Given the description of an element on the screen output the (x, y) to click on. 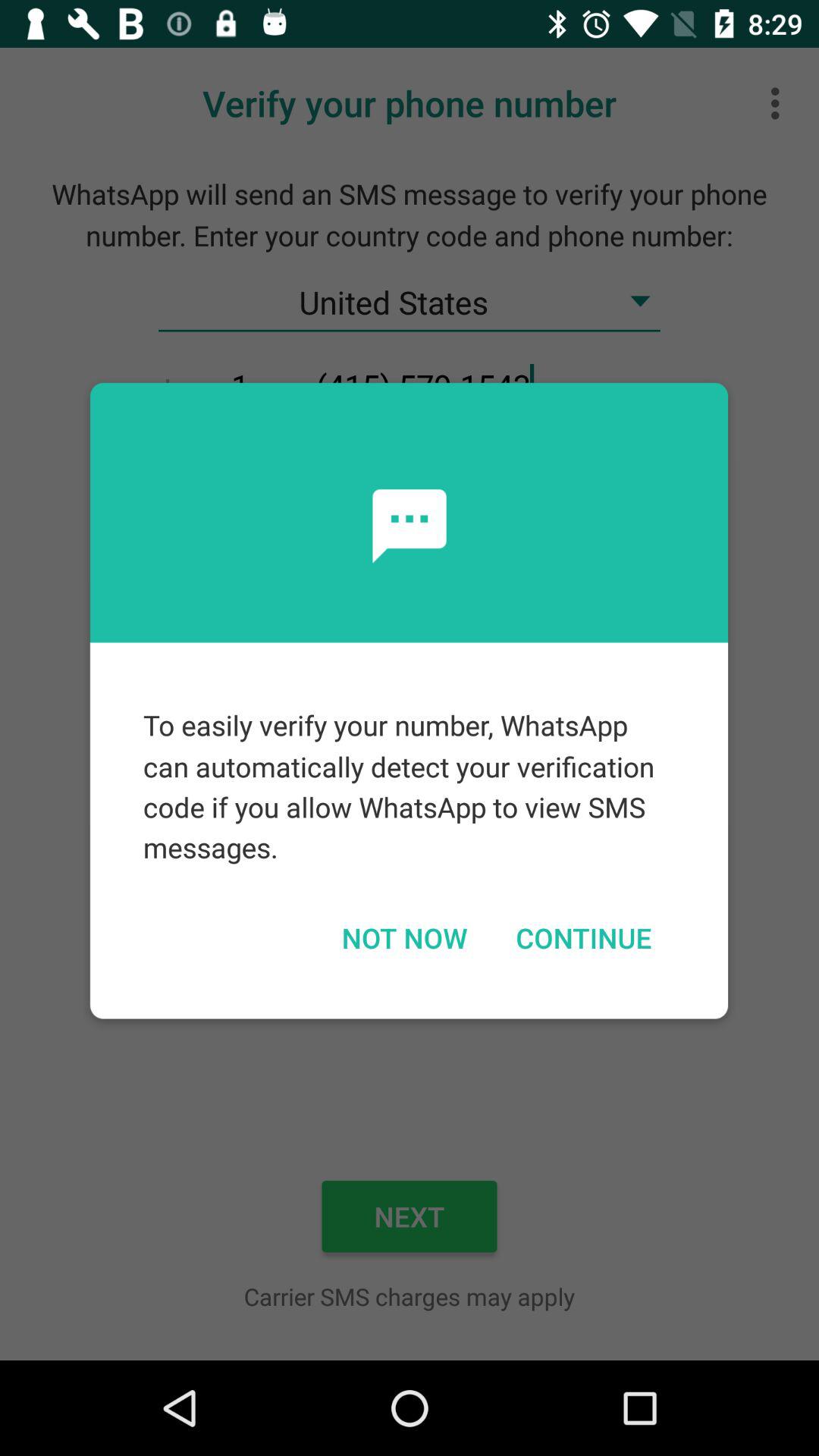
click the icon to the left of continue icon (403, 937)
